Given the description of an element on the screen output the (x, y) to click on. 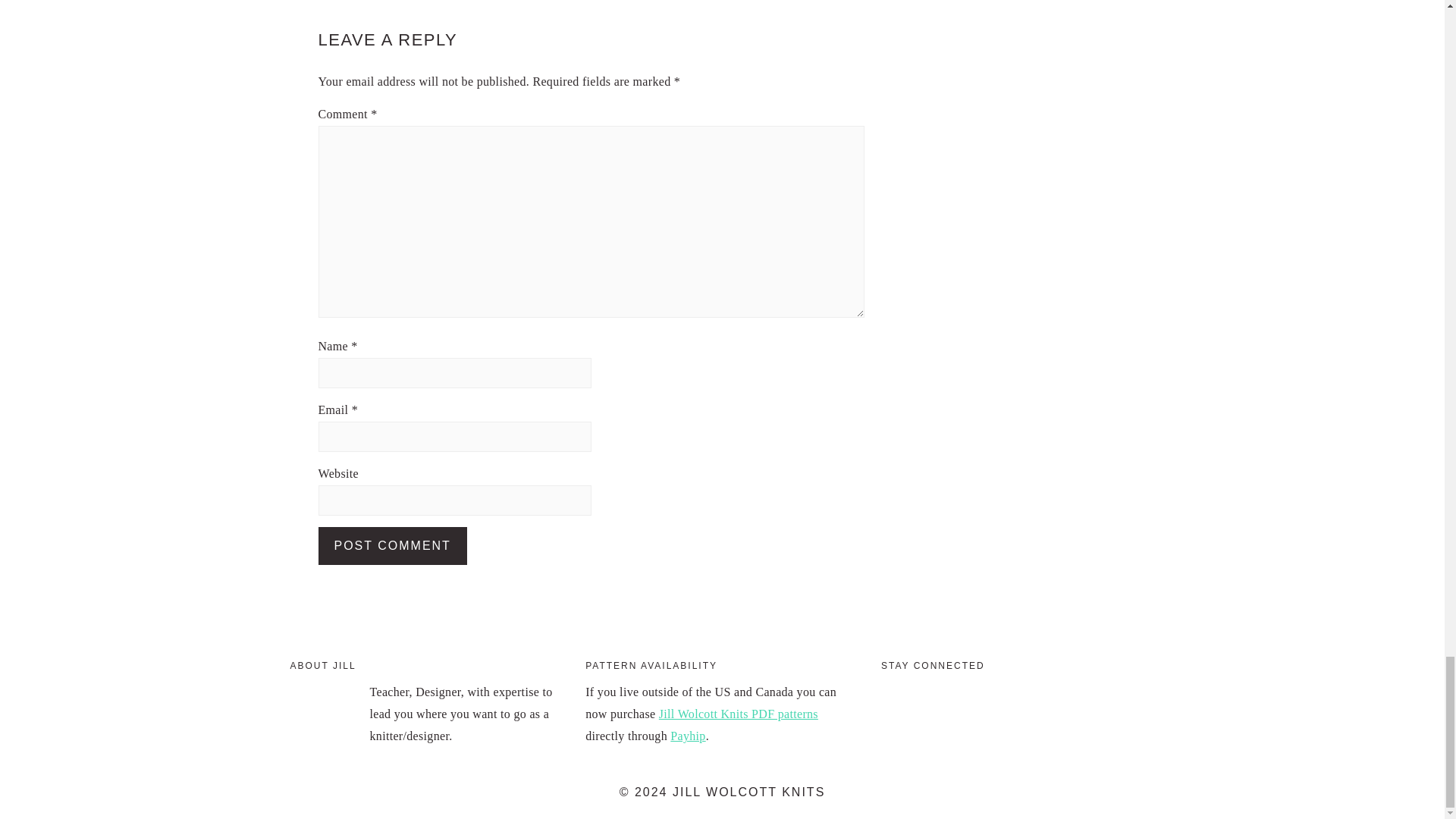
Post Comment (392, 546)
